Given the description of an element on the screen output the (x, y) to click on. 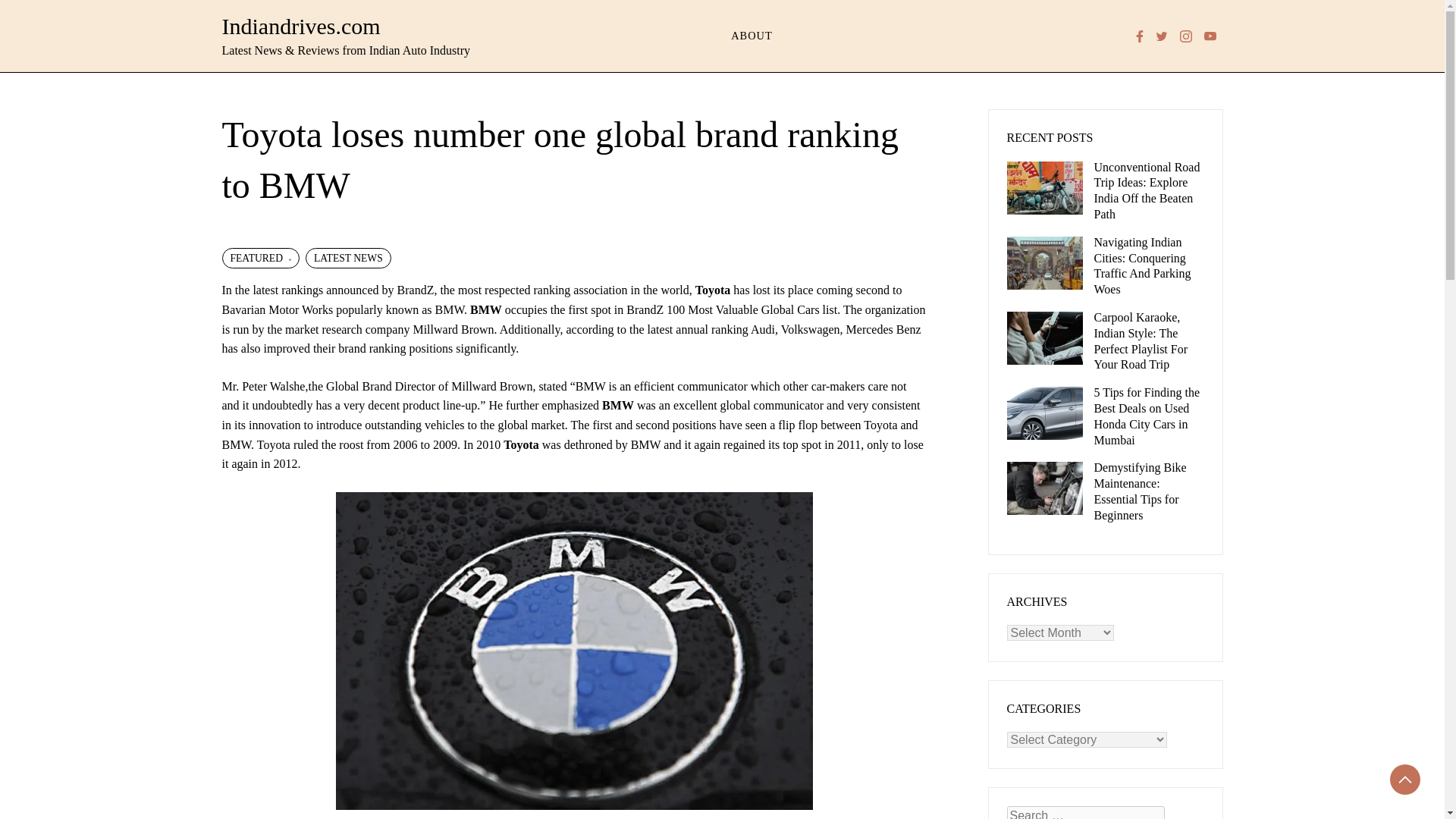
FEATURED (259, 258)
BMW cars in India (617, 404)
LATEST NEWS (348, 258)
Indiandrives.com (300, 25)
BMW (617, 404)
ABOUT (751, 35)
